Given the description of an element on the screen output the (x, y) to click on. 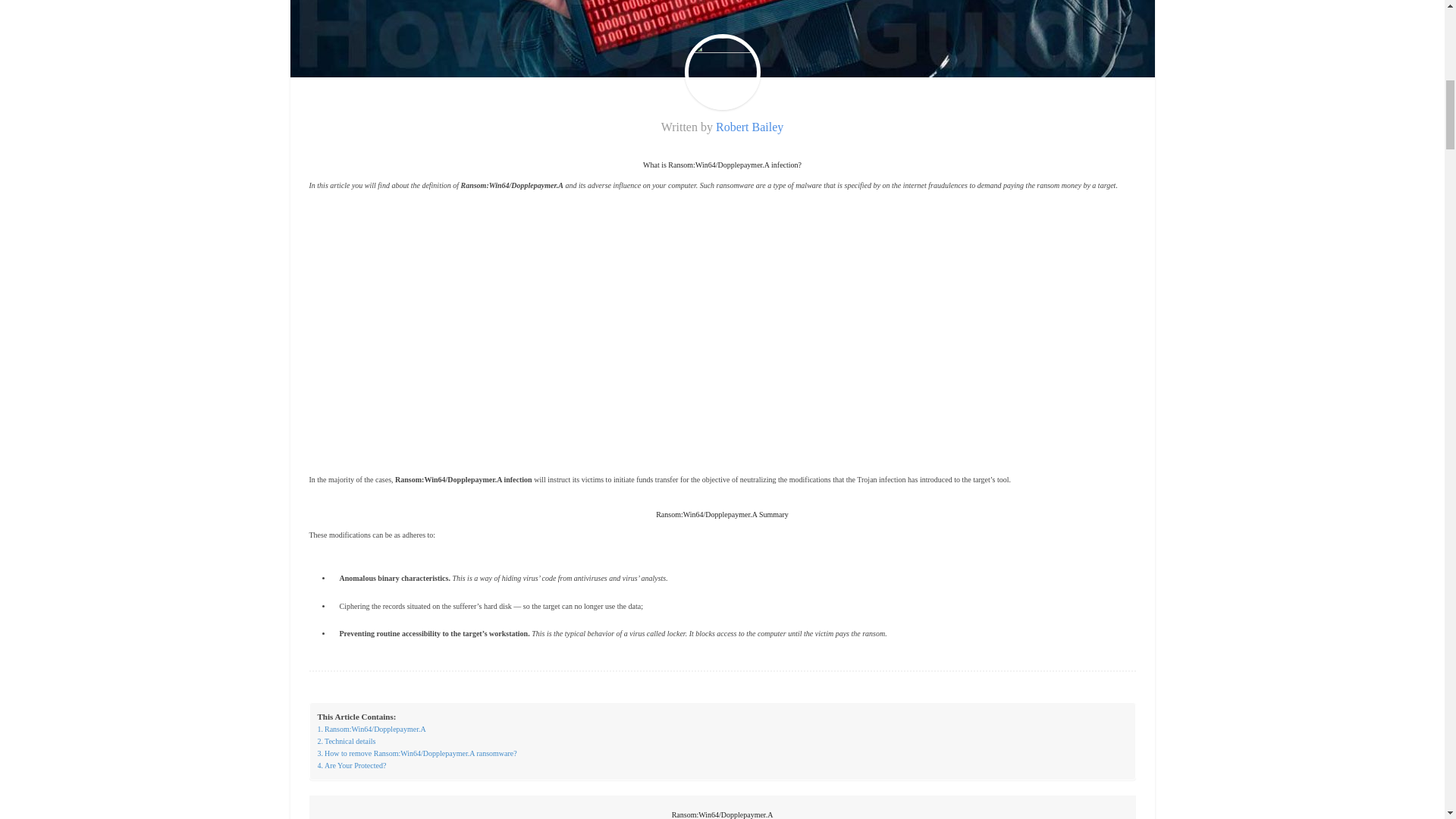
Technical details (346, 741)
Are Your Protected? (351, 766)
Are Your Protected? (351, 766)
Technical details (346, 741)
Robert Bailey (749, 126)
